Given the description of an element on the screen output the (x, y) to click on. 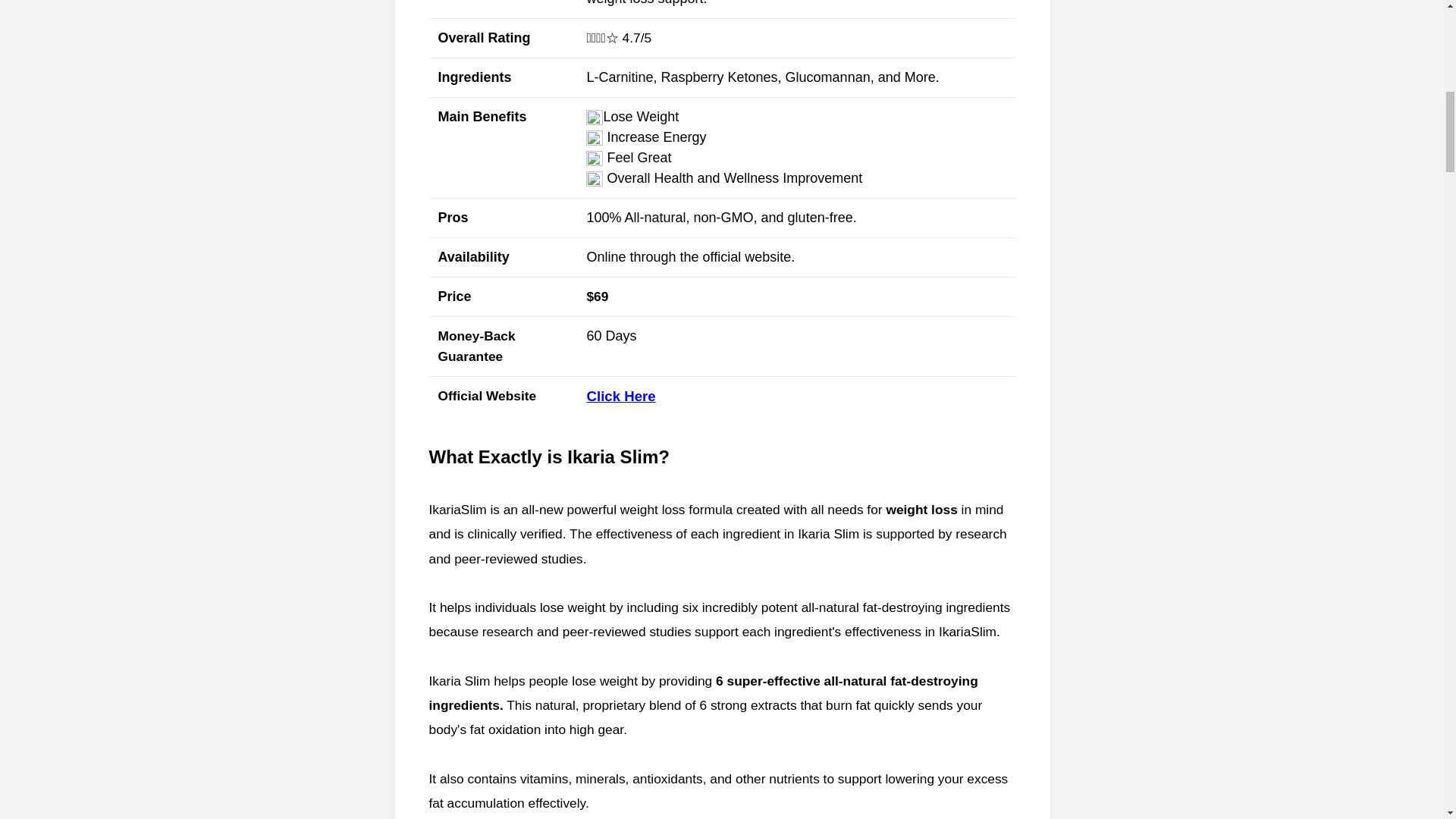
Click Here (620, 396)
